Given the description of an element on the screen output the (x, y) to click on. 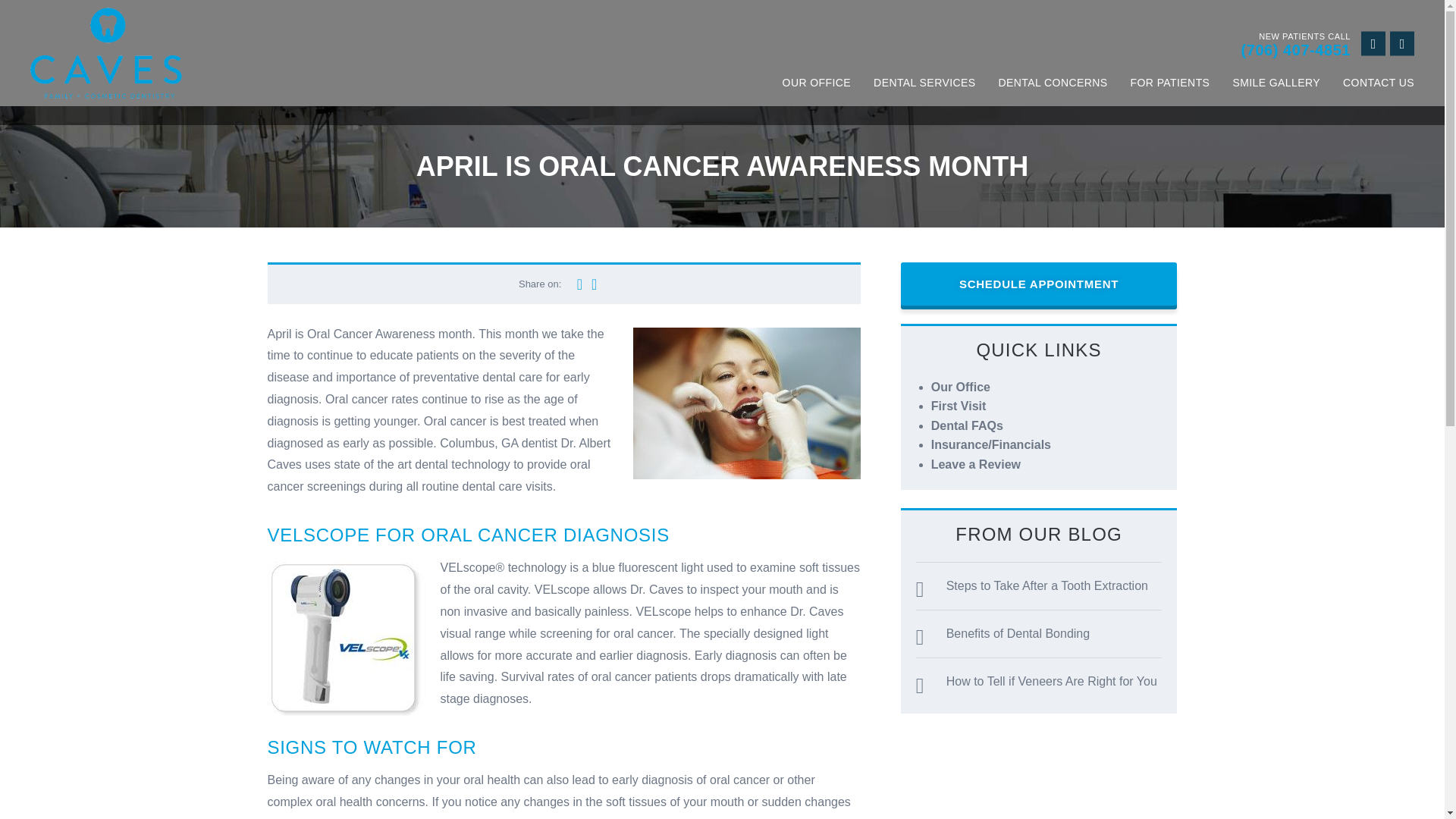
OUR OFFICE (817, 81)
DENTAL SERVICES (924, 81)
